Given the description of an element on the screen output the (x, y) to click on. 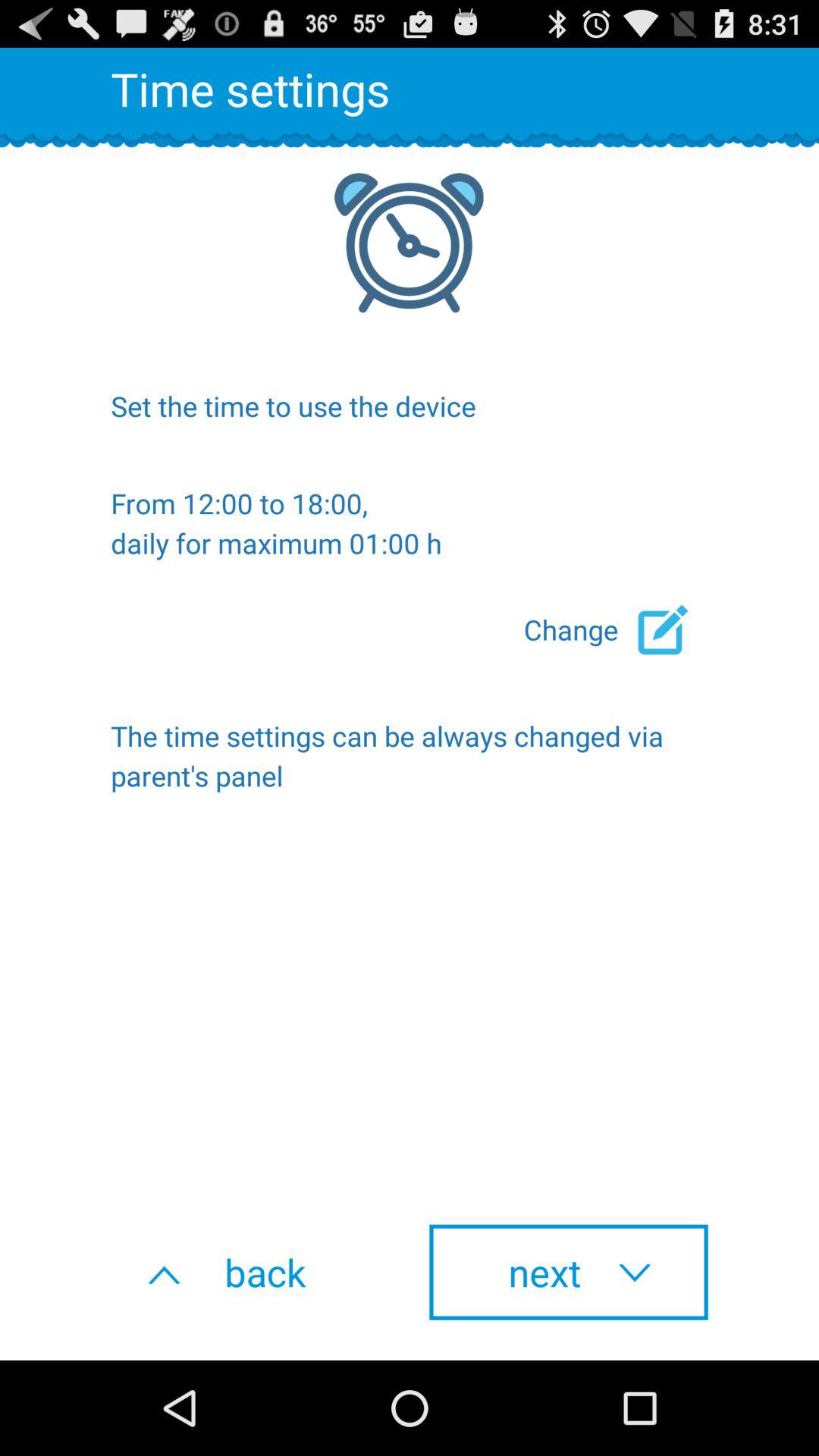
swipe to the change (615, 629)
